Given the description of an element on the screen output the (x, y) to click on. 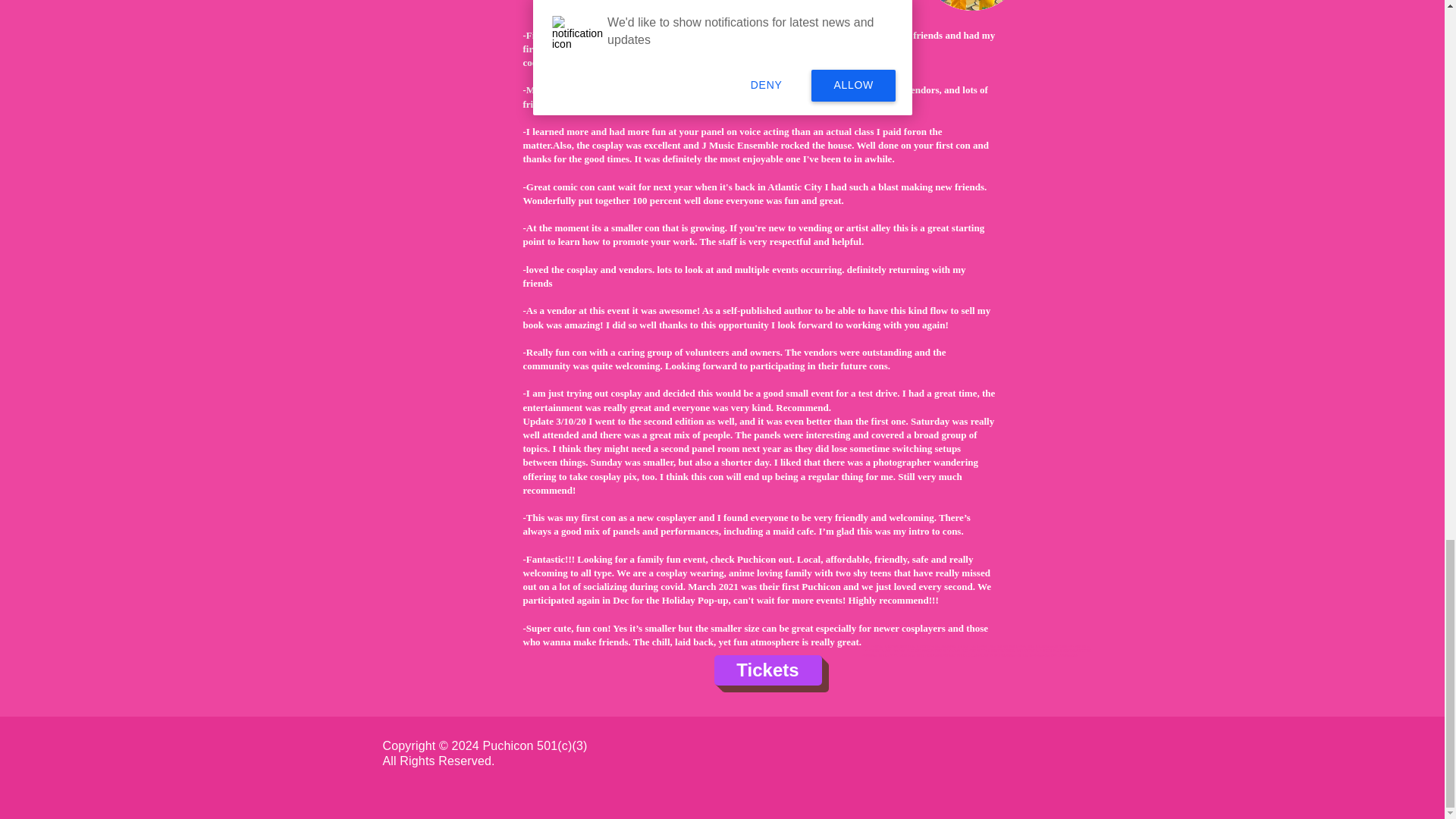
Tickets (768, 670)
